Given the description of an element on the screen output the (x, y) to click on. 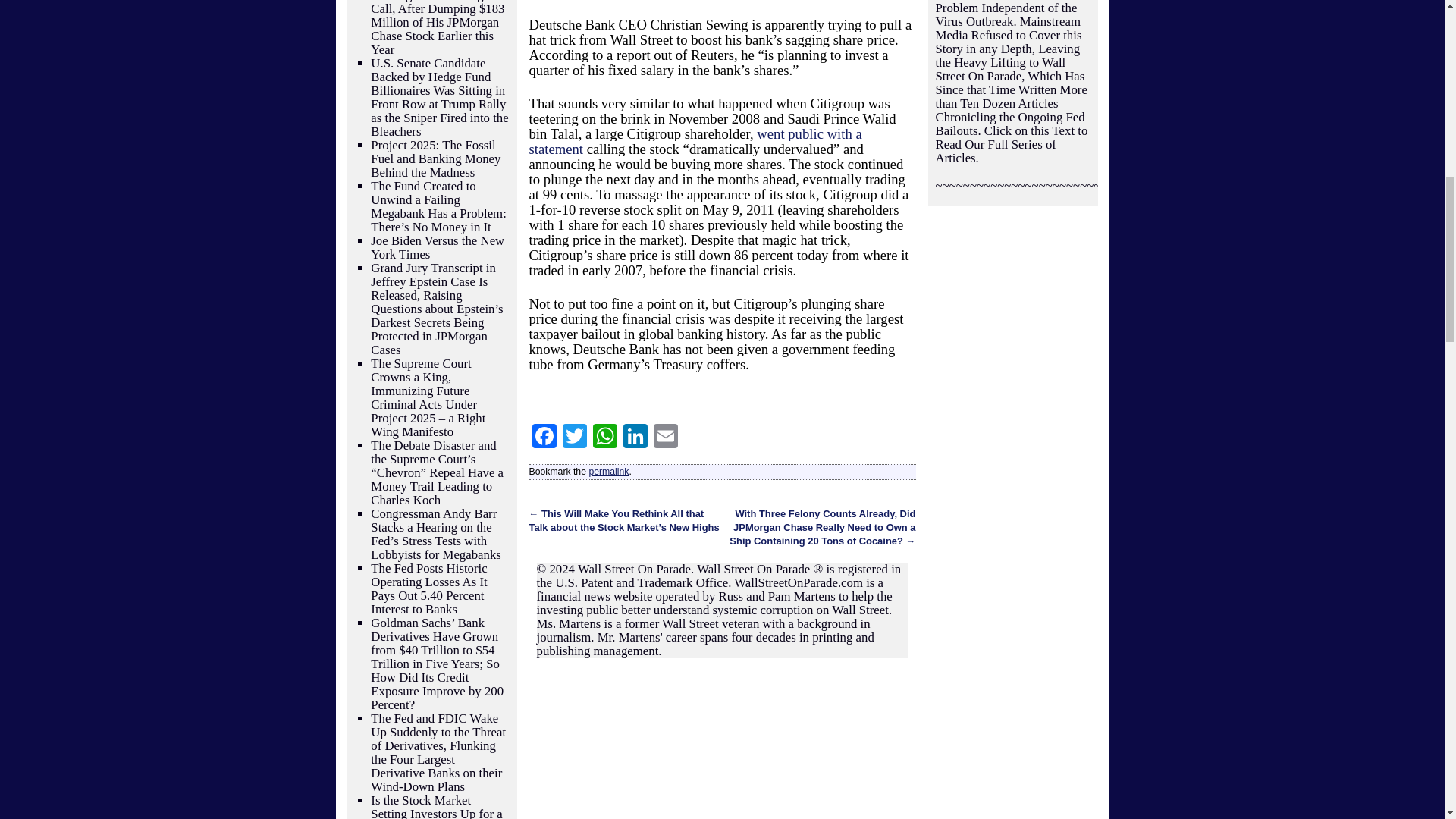
Facebook (544, 438)
Joe Biden Versus the New York Times (437, 247)
Email (665, 438)
WhatsApp (604, 438)
LinkedIn (635, 438)
LinkedIn (635, 438)
permalink (608, 471)
WhatsApp (604, 438)
Twitter (574, 438)
Twitter (574, 438)
